Given the description of an element on the screen output the (x, y) to click on. 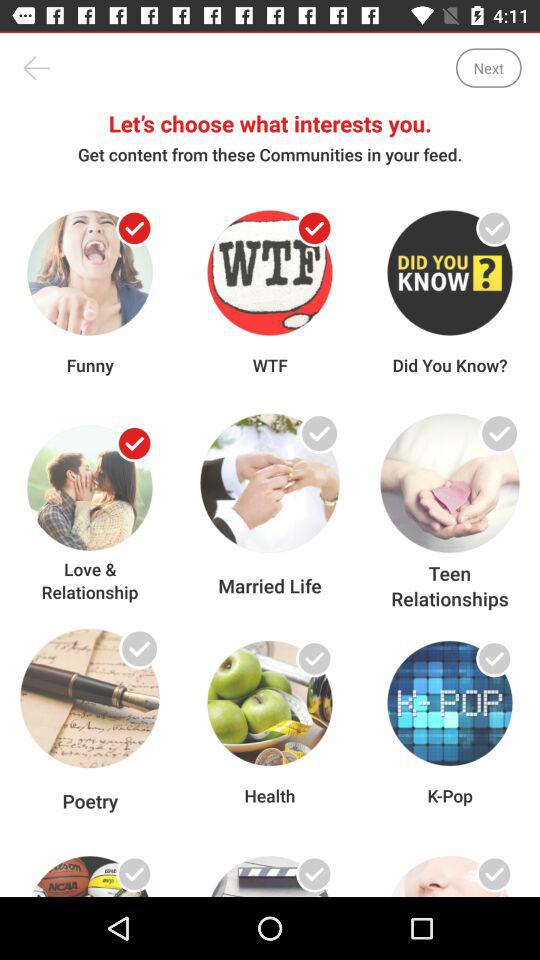
select option (134, 873)
